Given the description of an element on the screen output the (x, y) to click on. 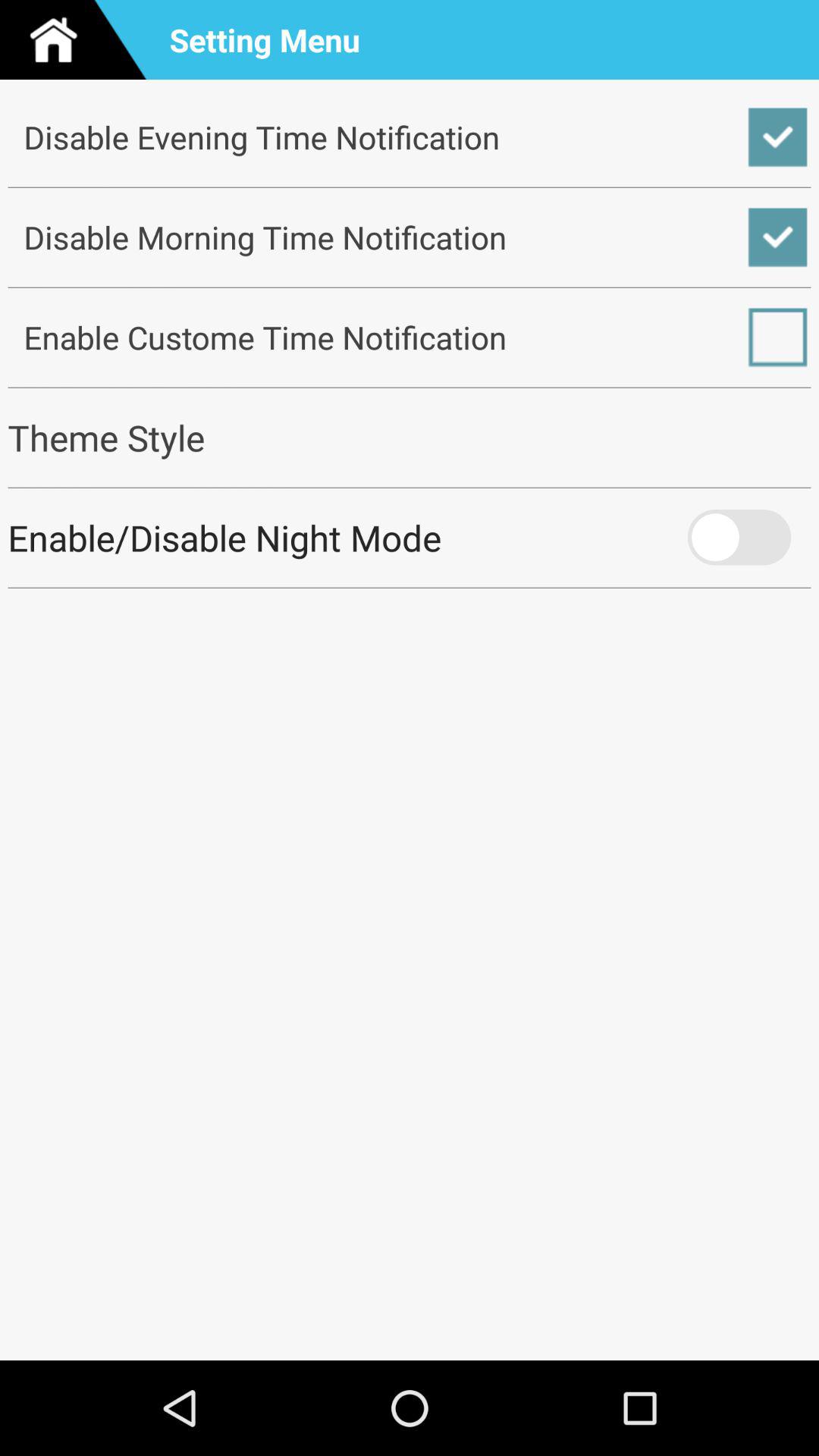
open enable custome time icon (409, 337)
